Given the description of an element on the screen output the (x, y) to click on. 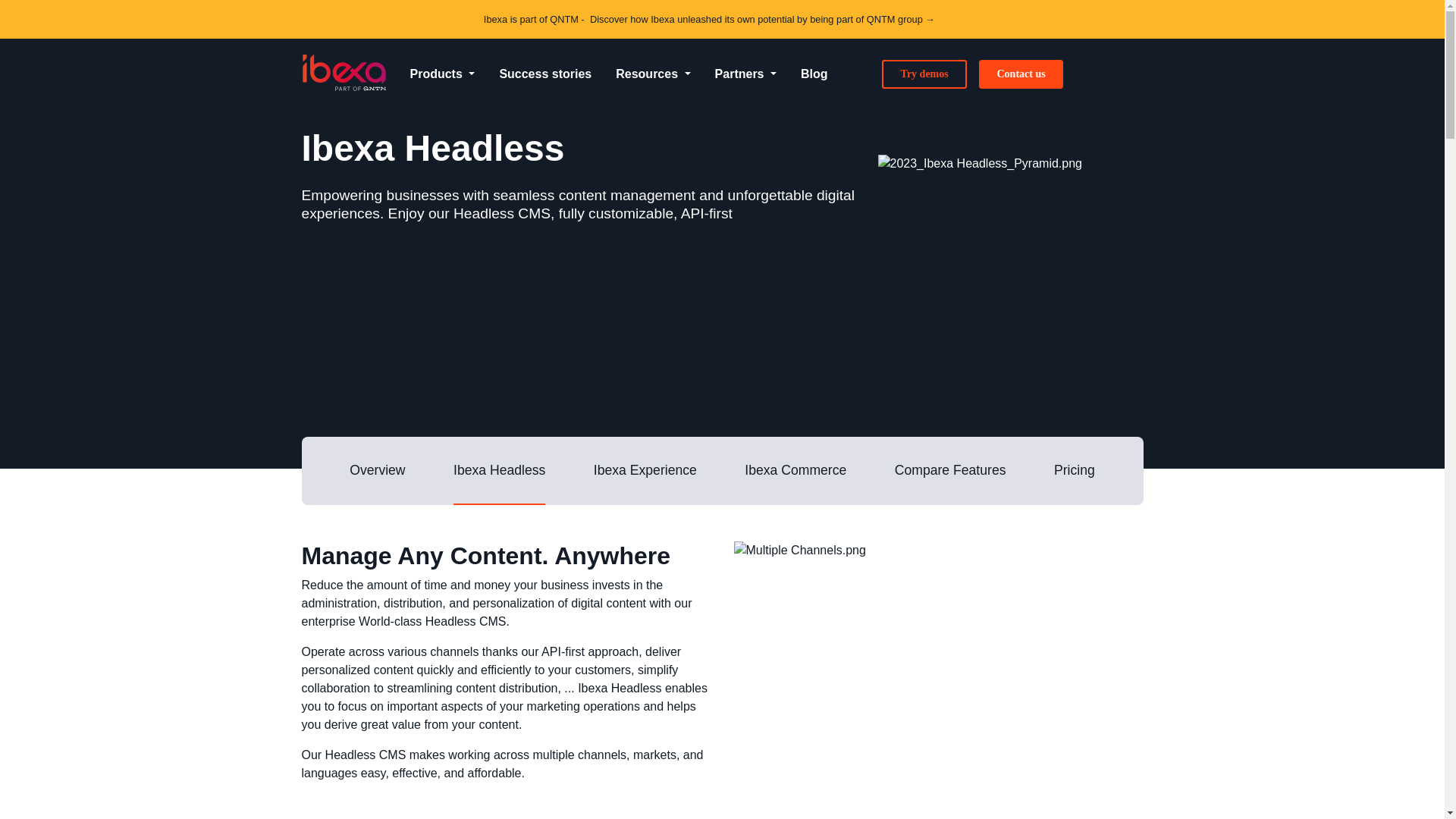
Try demos (924, 73)
Resources (652, 74)
Blog (814, 74)
Products (441, 74)
Partners (746, 74)
Success stories (545, 74)
Contact us (1020, 73)
